Given the description of an element on the screen output the (x, y) to click on. 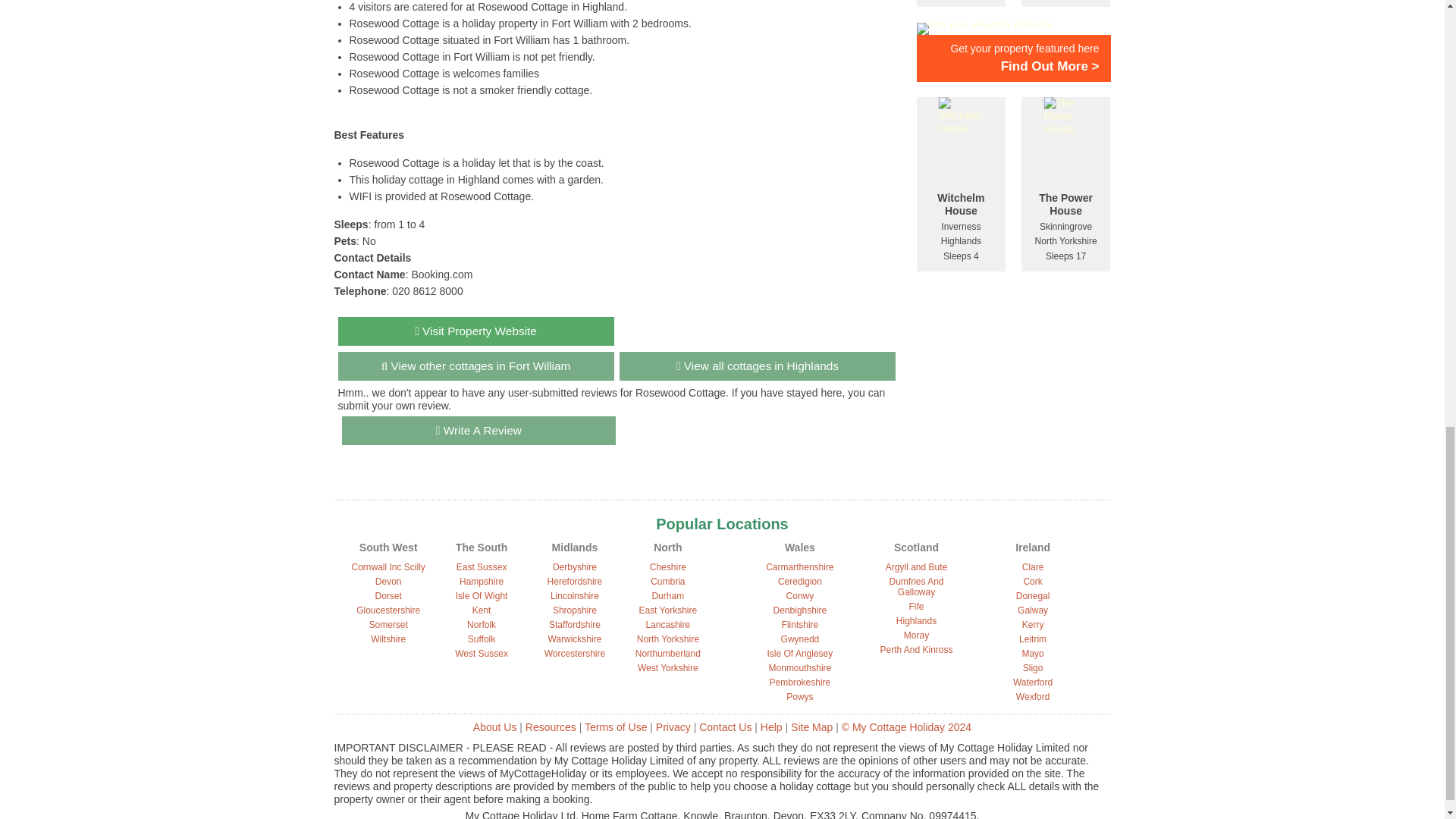
View all cottages in Highlands (757, 366)
Cornwall Inc Scilly (388, 566)
View other cottages in Fort William (475, 366)
Write A Review (477, 430)
Get your property featured here (1012, 46)
View all cottages in Highlands (757, 366)
View other cottages in Fort William (475, 366)
Visit Property Website (475, 330)
